Given the description of an element on the screen output the (x, y) to click on. 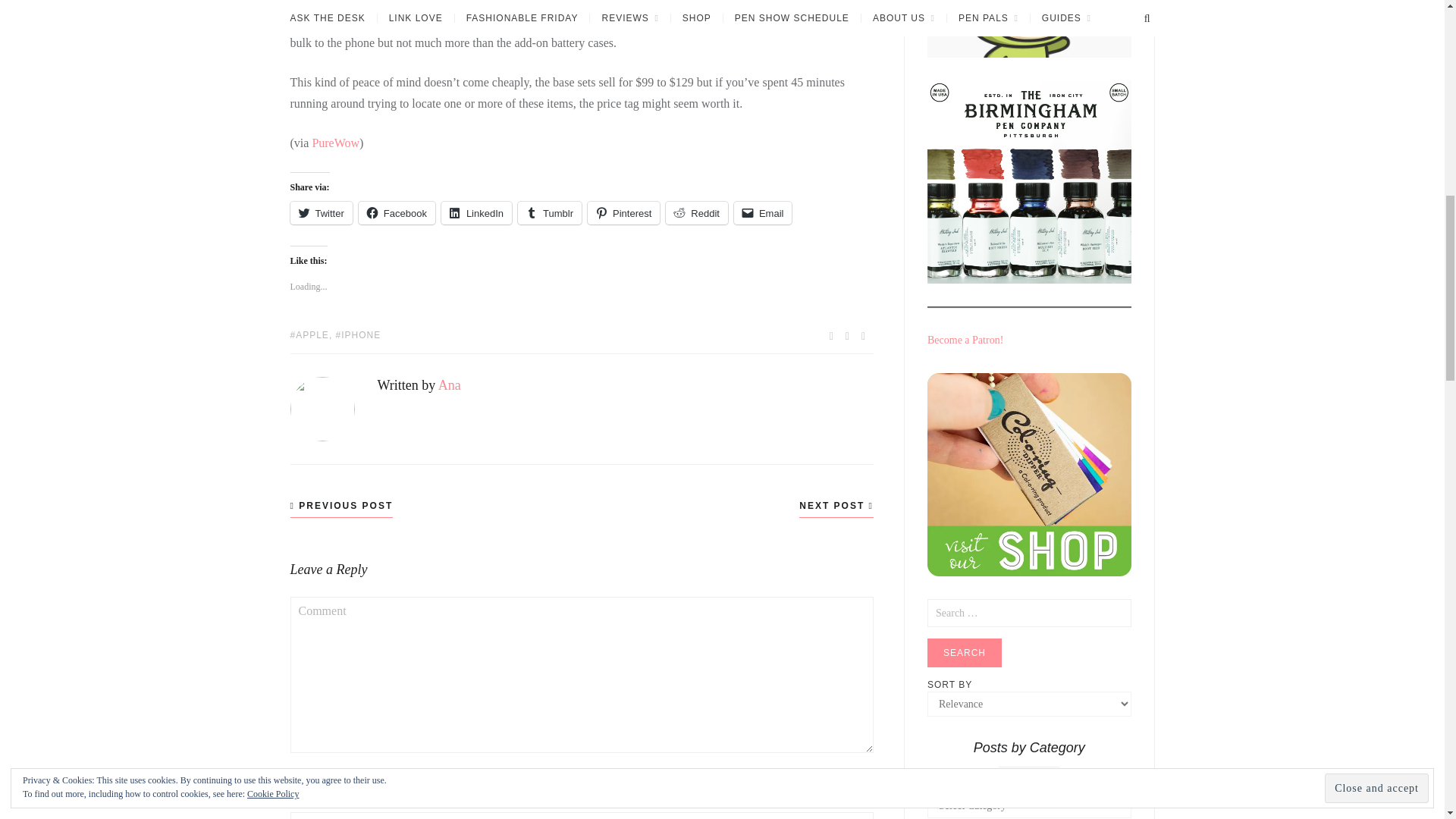
Search (964, 652)
Click to share on Pinterest (623, 212)
Click to email a link to a friend (762, 212)
Click to share on LinkedIn (476, 212)
LinkedIn (476, 212)
Facebook (396, 212)
Search (964, 652)
PureWow (335, 142)
Click to share on Tumblr (549, 212)
Click to share on Reddit (696, 212)
